Given the description of an element on the screen output the (x, y) to click on. 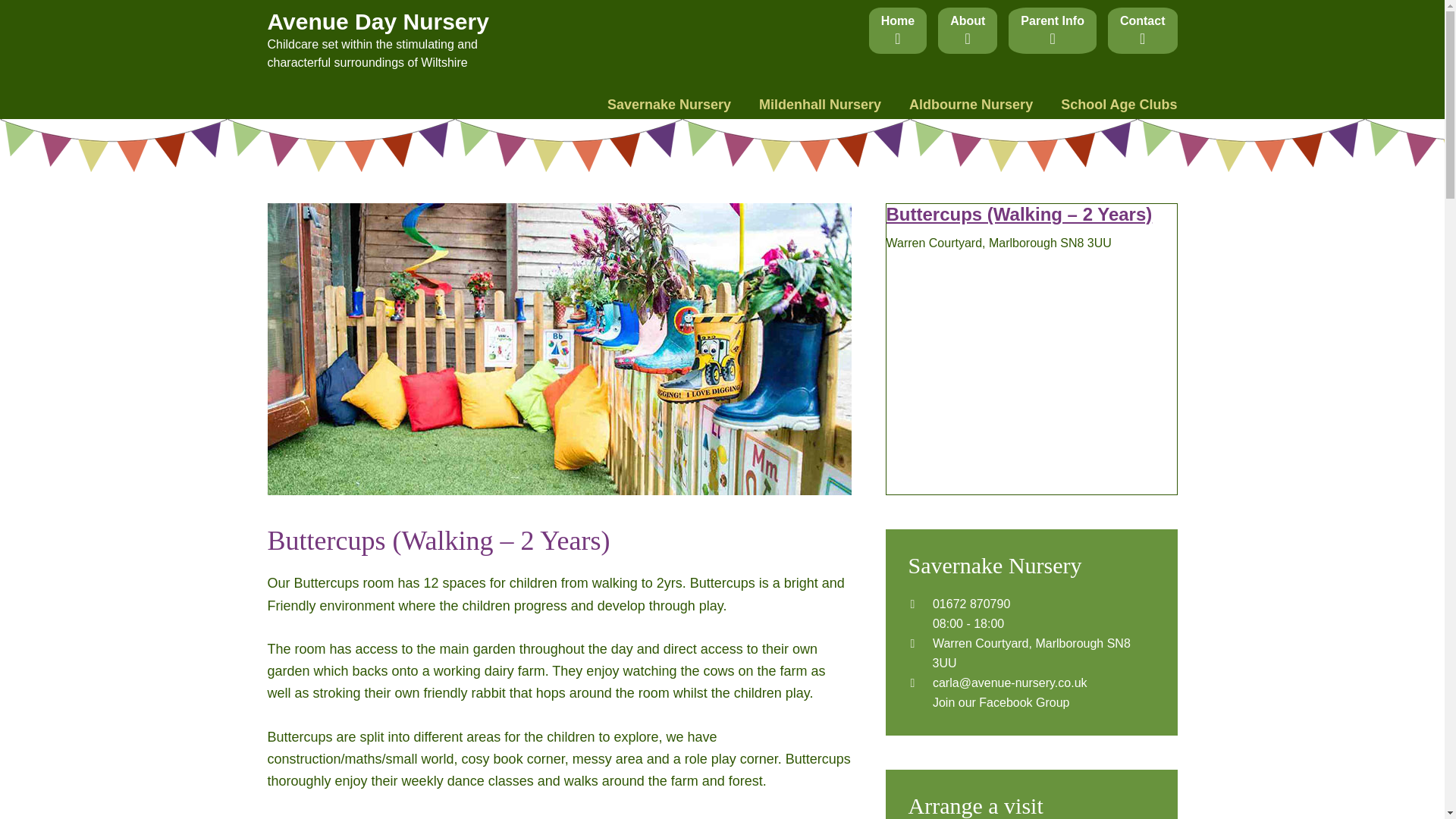
Home (897, 30)
Contact (1142, 30)
About (967, 30)
Savernake Nursery (674, 104)
Parent Info (1052, 30)
Avenue Day Nursery (376, 21)
Mildenhall Nursery (819, 104)
Aldbourne Nursery (970, 104)
School Age Clubs (1112, 104)
